Given the description of an element on the screen output the (x, y) to click on. 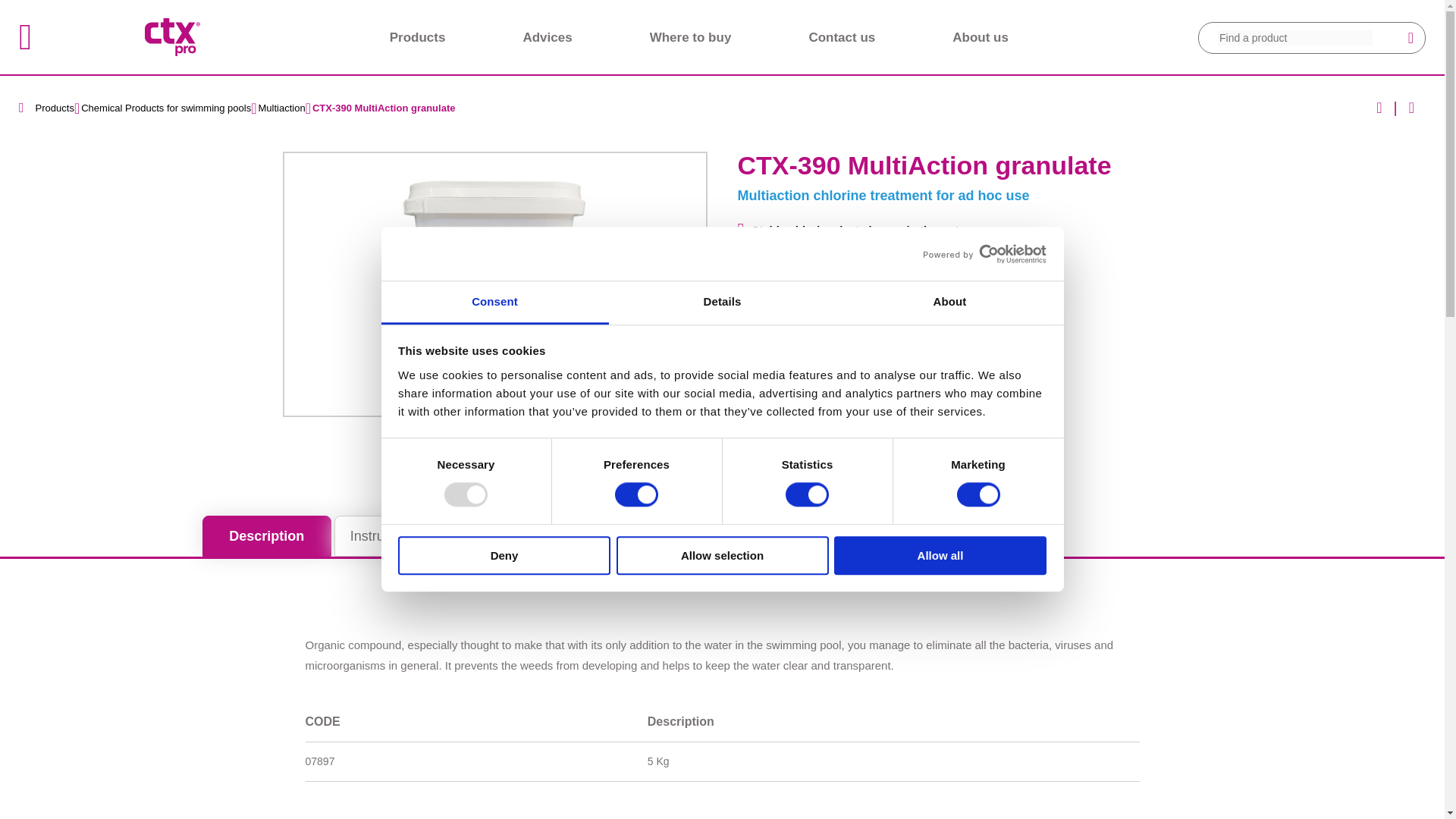
Allow selection (721, 555)
Consent (494, 302)
About (948, 302)
CTX Professional (172, 37)
Deny (503, 555)
Allow all (940, 555)
Details (721, 302)
